Given the description of an element on the screen output the (x, y) to click on. 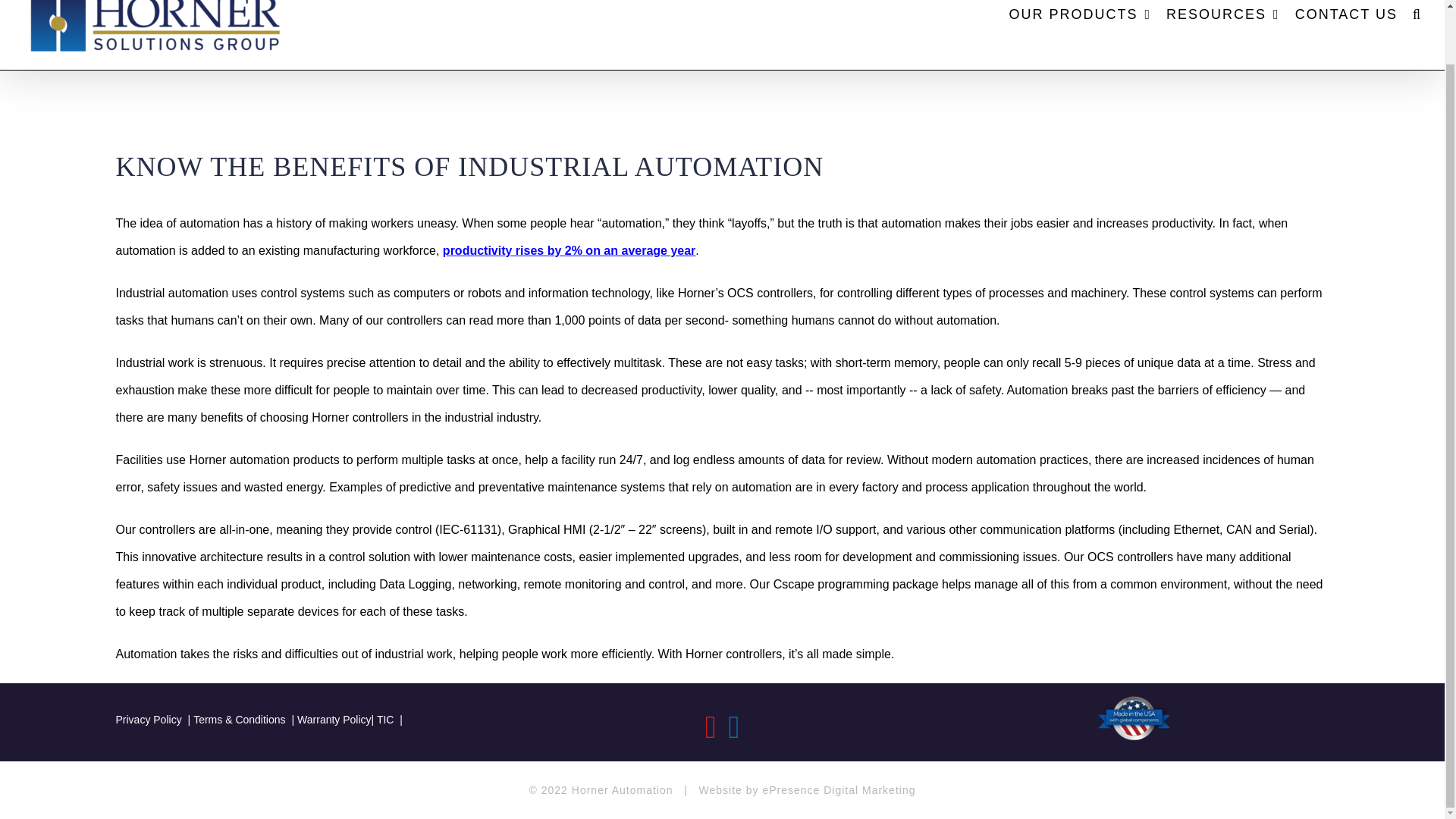
Horner Automation (622, 789)
CONTACT US (1346, 26)
ePresence Digital Marketing (838, 789)
OUR PRODUCTS (1080, 26)
RESOURCES (1222, 26)
Privacy Policy (154, 719)
Warranty Policy (334, 719)
